Given the description of an element on the screen output the (x, y) to click on. 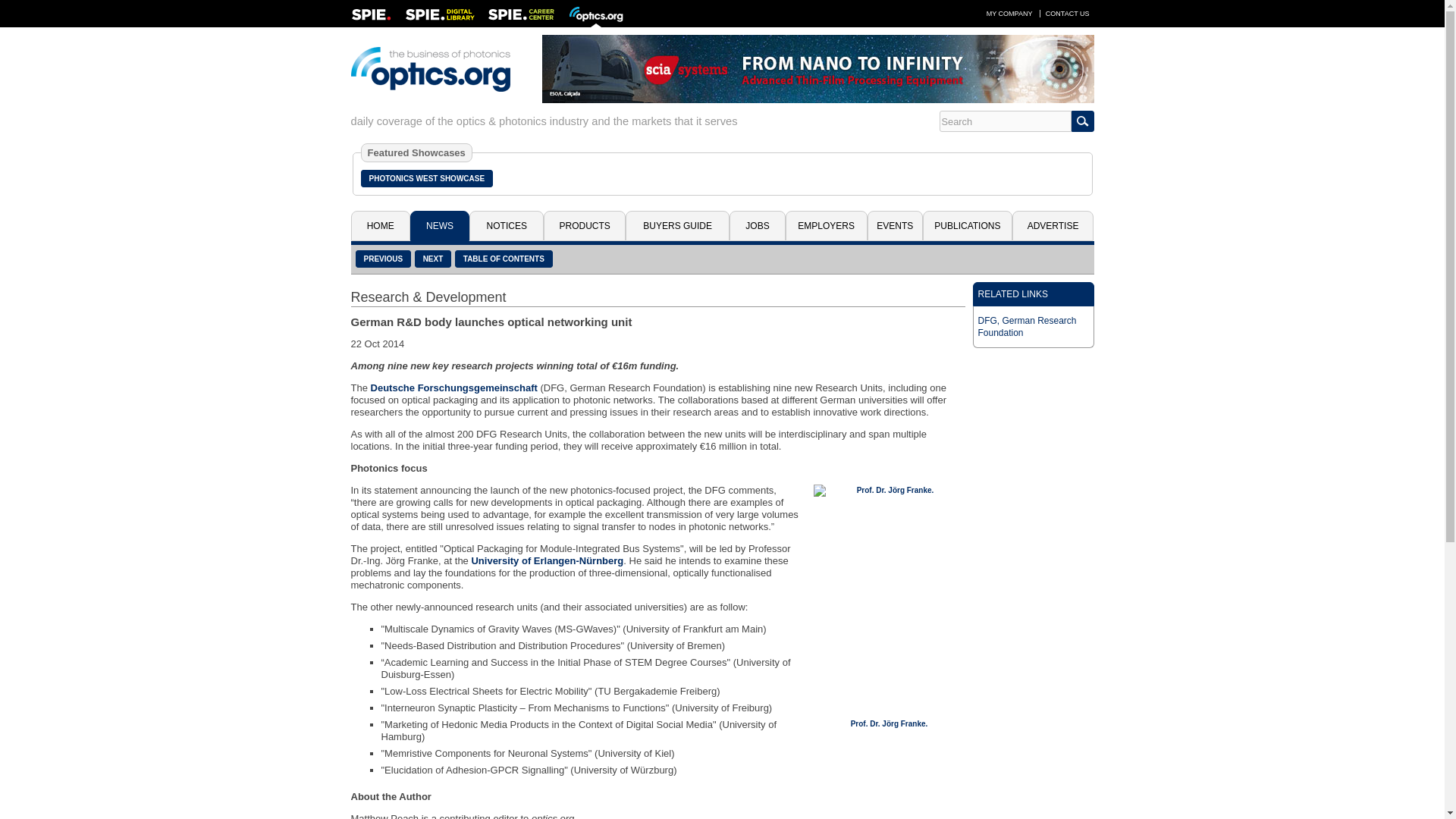
Search (1004, 120)
NEWS (439, 225)
BUYERS GUIDE (677, 225)
PRODUCTS (584, 225)
JOBS (757, 225)
CONTACT US (1067, 13)
HOME (379, 225)
PHOTONICS WEST SHOWCASE (427, 178)
MY COMPANY (1008, 13)
NOTICES (505, 225)
